Given the description of an element on the screen output the (x, y) to click on. 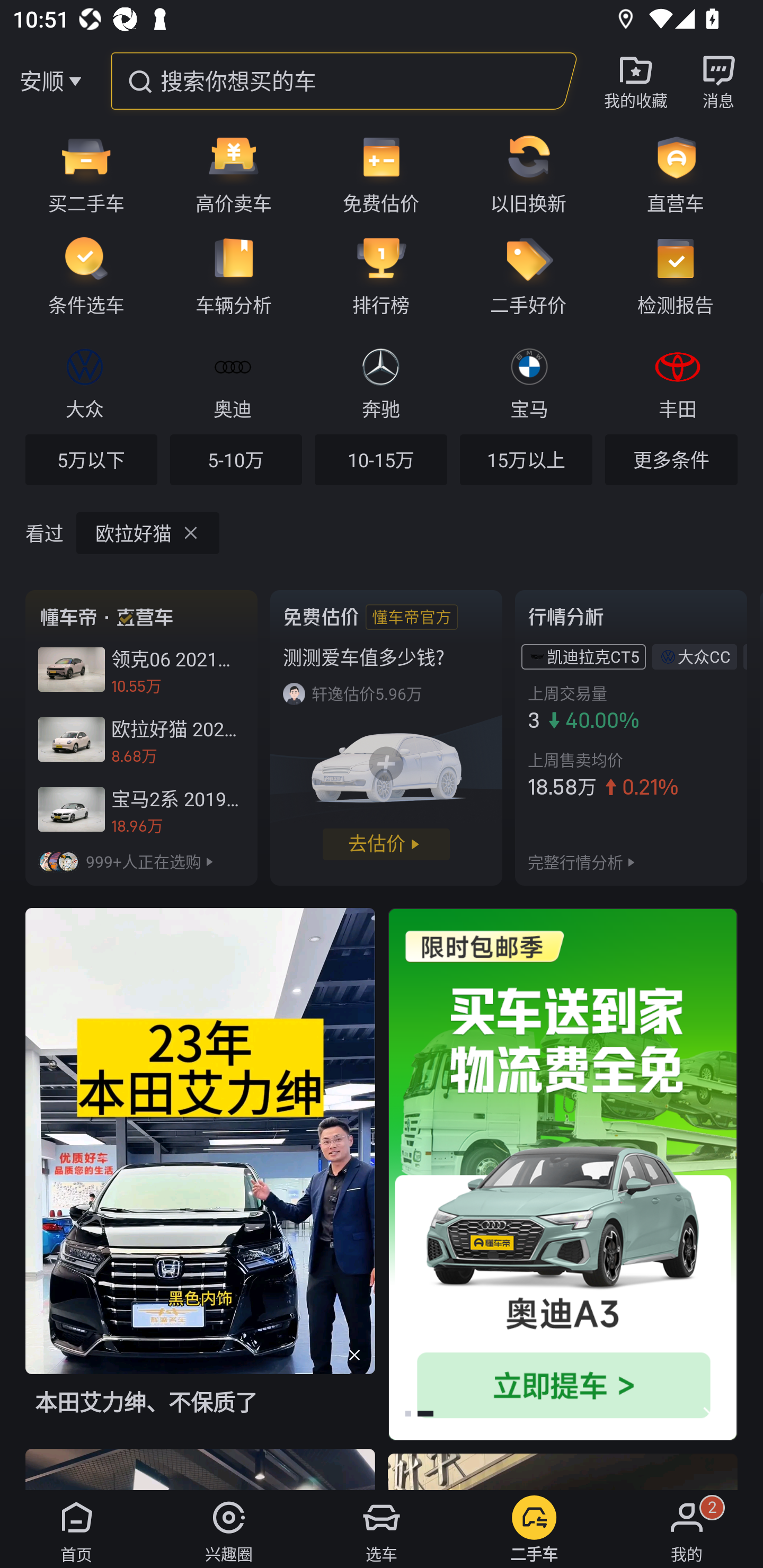
我的收藏 (635, 80)
安顺 (41, 80)
买二手车 (80, 172)
高价卖车 (233, 172)
免费估价 (380, 172)
以旧换新 (528, 172)
直营车 (682, 172)
条件选车 (80, 274)
车辆分析 (233, 274)
排行榜 (380, 274)
二手好价 (528, 274)
检测报告 (682, 274)
大众 (84, 381)
奥迪 (232, 381)
奔驰 (380, 381)
宝马 (529, 381)
丰田 (677, 381)
5万以下 (91, 459)
5-10万 (236, 459)
10-15万 (380, 459)
15万以上 (526, 459)
更多条件 (671, 459)
欧拉好猫 (147, 532)
测测爱车值多少钱? 轩逸估价5.96万 去估价  (386, 737)
领克06 2021款 1.5T Shero粉色特别版 10.55万 (141, 669)
凯迪拉克CT5 (593, 656)
大众CC (703, 656)
欧拉好猫 2022款 400km标准续航 豪华型 磷酸铁锂 8.68万 (141, 739)
宝马2系 2019款 225i 敞篷轿跑车 运动设计套装 18.96万 (141, 809)
999+人正在选购 (141, 862)
完整行情分析 (575, 862)
本田艾力绅、不保质了 (200, 1177)
 首页 (76, 1528)
 兴趣圈 (228, 1528)
 选车 (381, 1528)
二手车 (533, 1528)
 我的 (686, 1528)
